Given the description of an element on the screen output the (x, y) to click on. 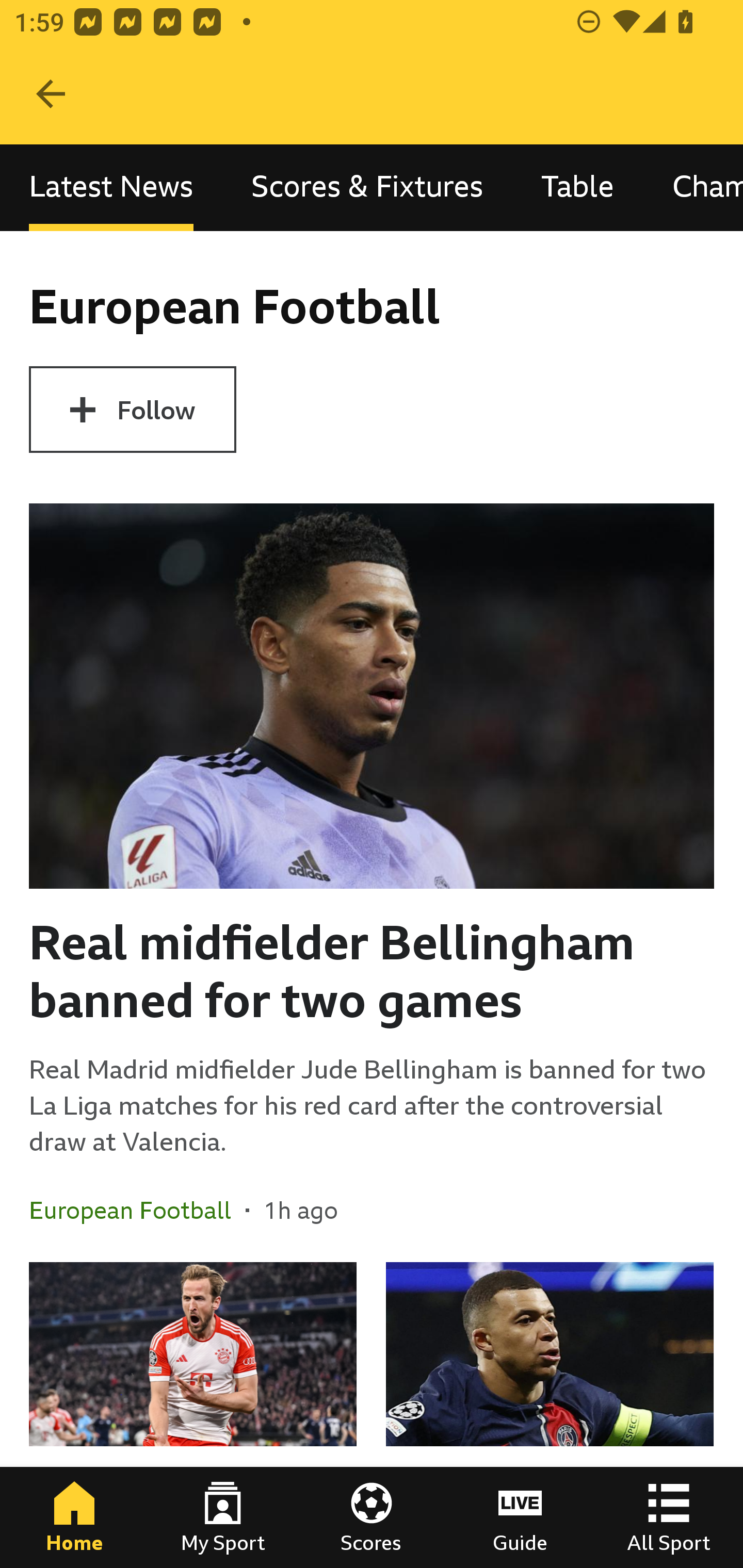
Navigate up (50, 93)
Latest News, selected Latest News (111, 187)
Scores & Fixtures (367, 187)
Table (577, 187)
Champions League (693, 187)
Follow European Football Follow (132, 409)
Kane scores two as stylish Bayern beat Lazio (192, 1415)
Mbappe has 'no problems' with manager Enrique (549, 1415)
My Sport (222, 1517)
Scores (371, 1517)
Guide (519, 1517)
All Sport (668, 1517)
